Given the description of an element on the screen output the (x, y) to click on. 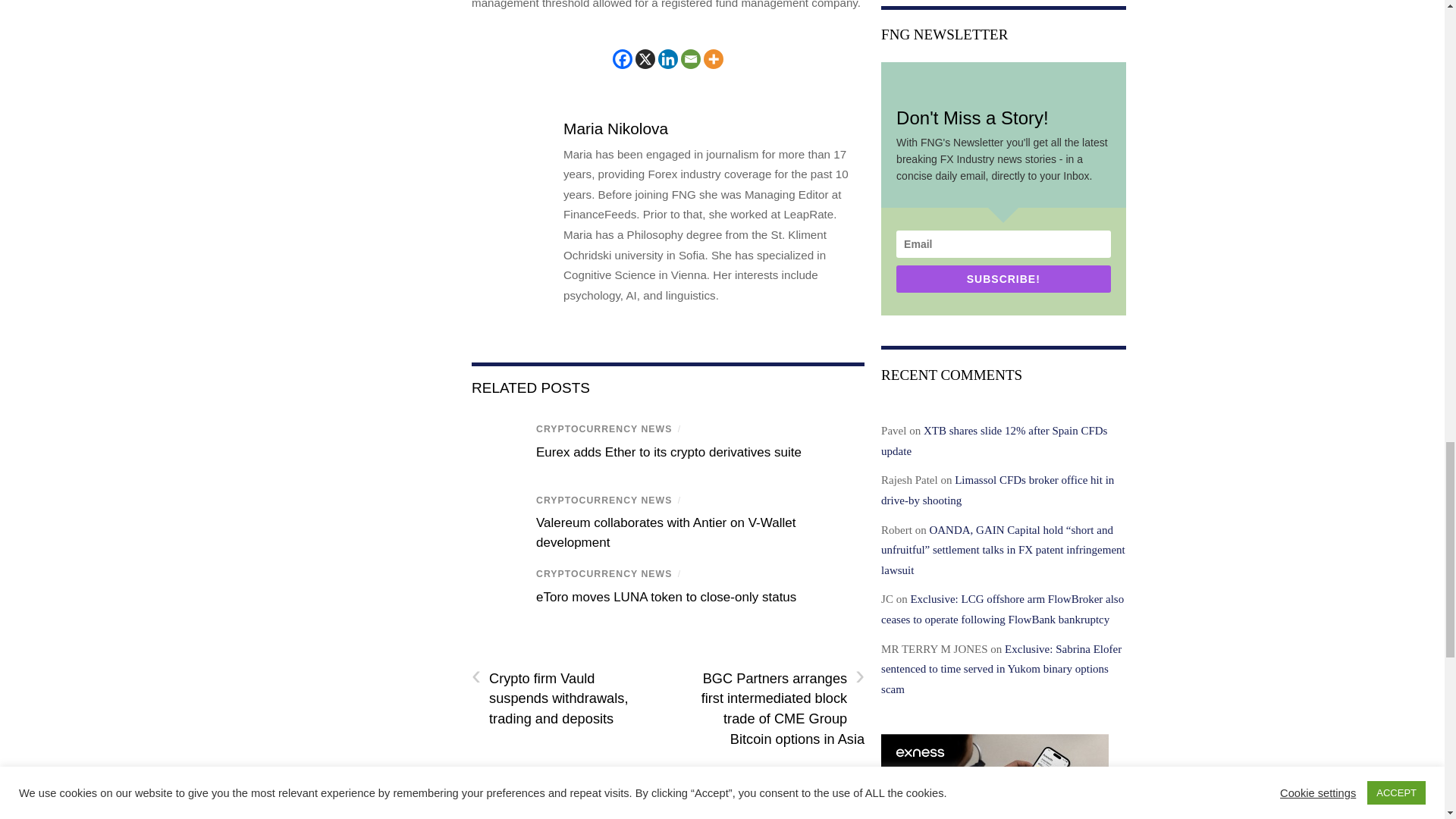
Facebook (621, 58)
X (644, 58)
